Given the description of an element on the screen output the (x, y) to click on. 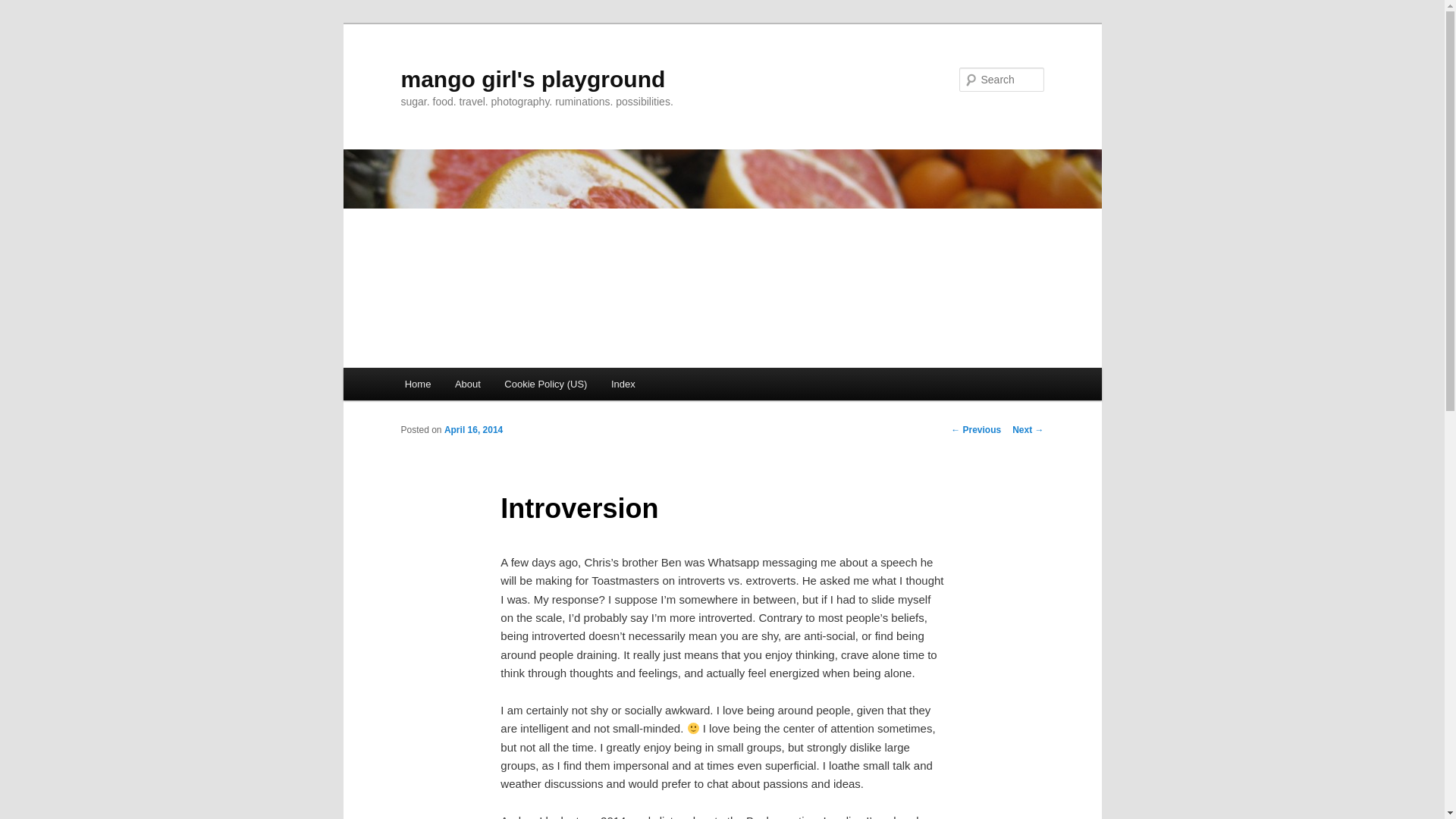
Search (24, 8)
About (467, 383)
April 16, 2014 (473, 429)
9:13 pm (473, 429)
mango girl's playground (532, 78)
Home (417, 383)
Index (622, 383)
